Given the description of an element on the screen output the (x, y) to click on. 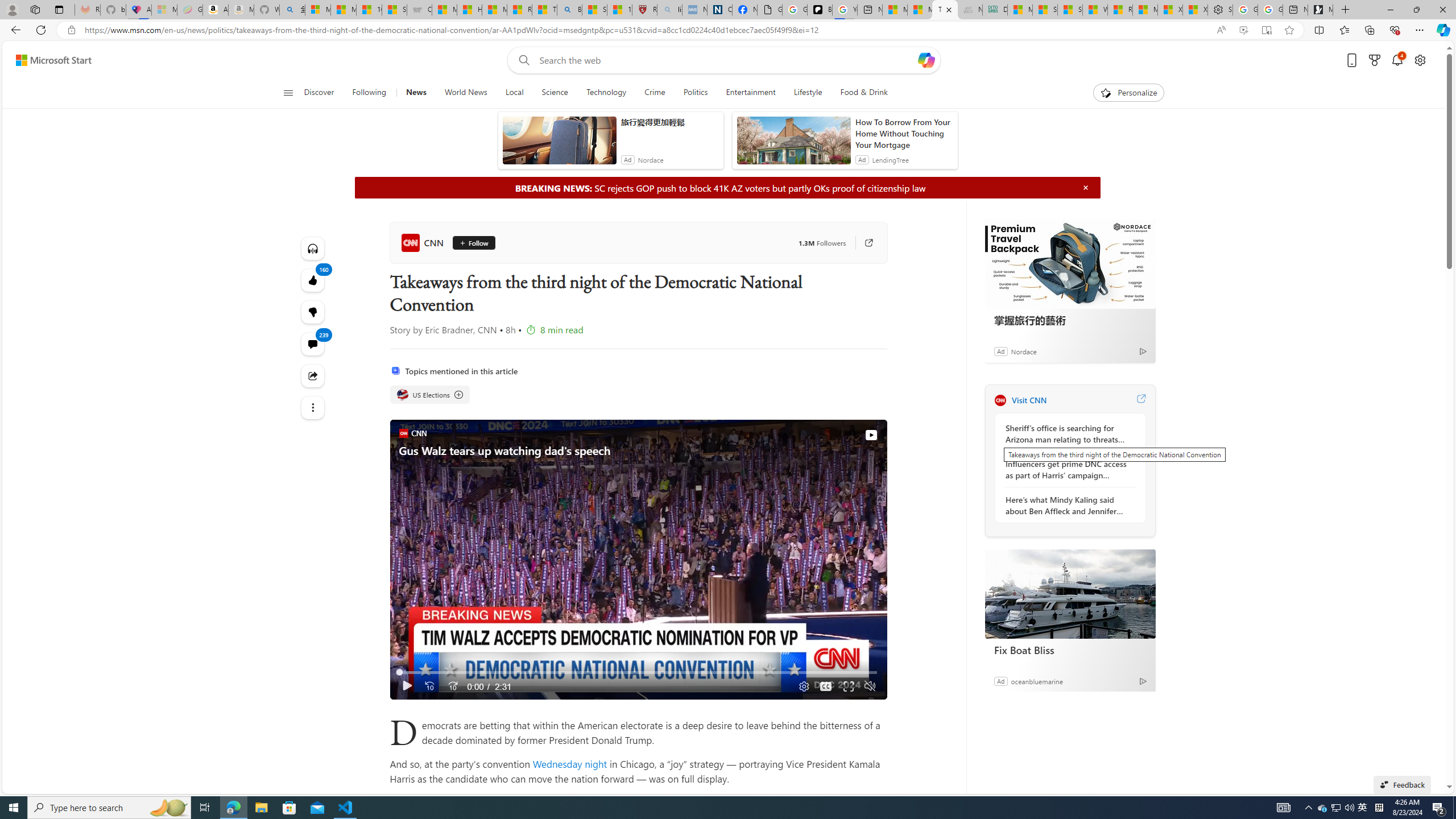
Unmute (868, 686)
Ad (999, 681)
Progress Bar (638, 672)
Local (514, 92)
US Elections (430, 394)
Microsoft rewards (1374, 60)
Local (514, 92)
Class: at-item (312, 407)
Feedback (1402, 784)
